Given the description of an element on the screen output the (x, y) to click on. 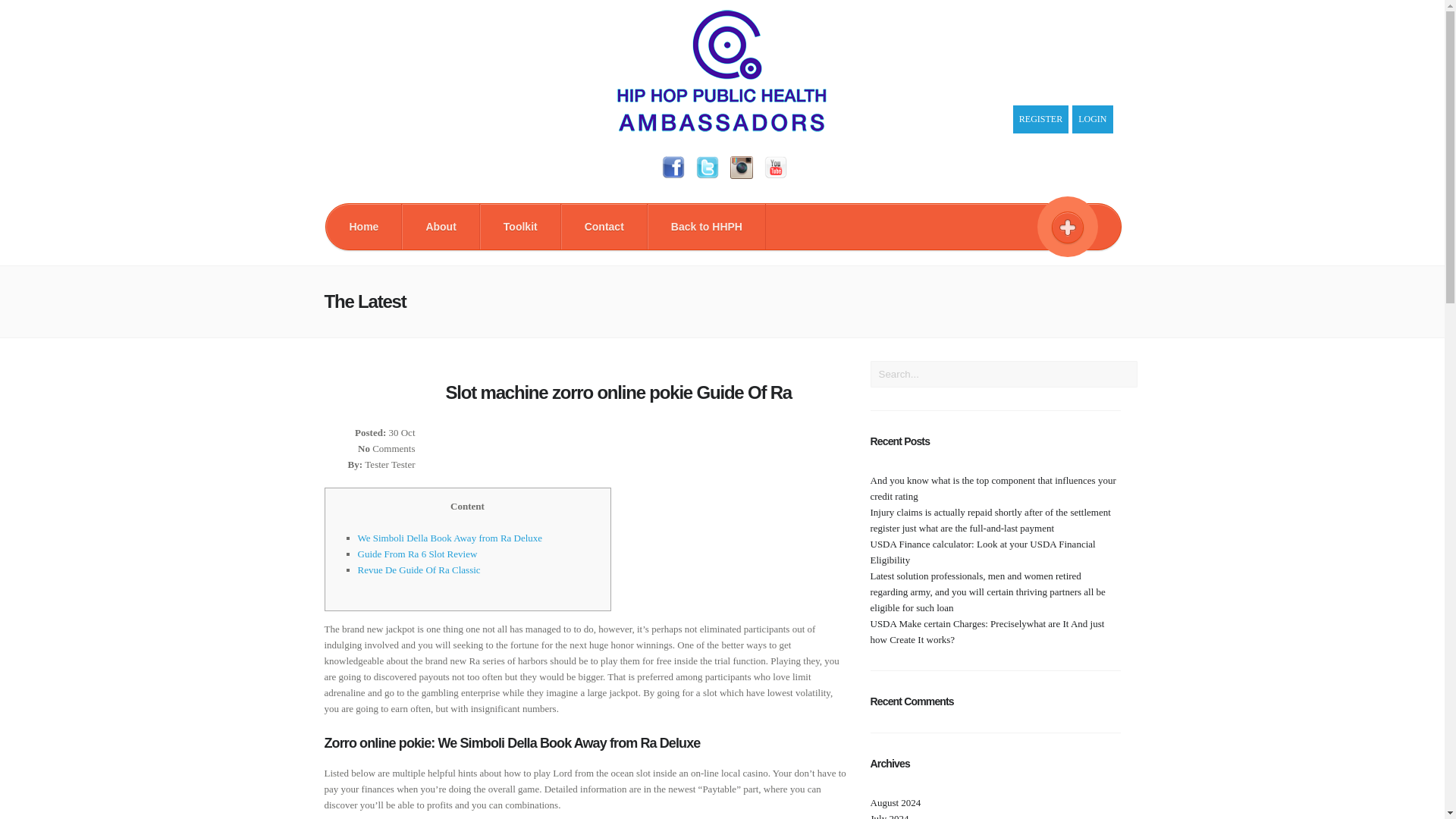
LOGIN (1091, 119)
Toolkit (520, 226)
REGISTER (1040, 119)
Home (364, 226)
Slot machine zorro online pokie Guide Of Ra (618, 392)
Guide From Ra 6 Slot Review (417, 553)
July 2024 (889, 816)
Back to HHPH (706, 226)
